Given the description of an element on the screen output the (x, y) to click on. 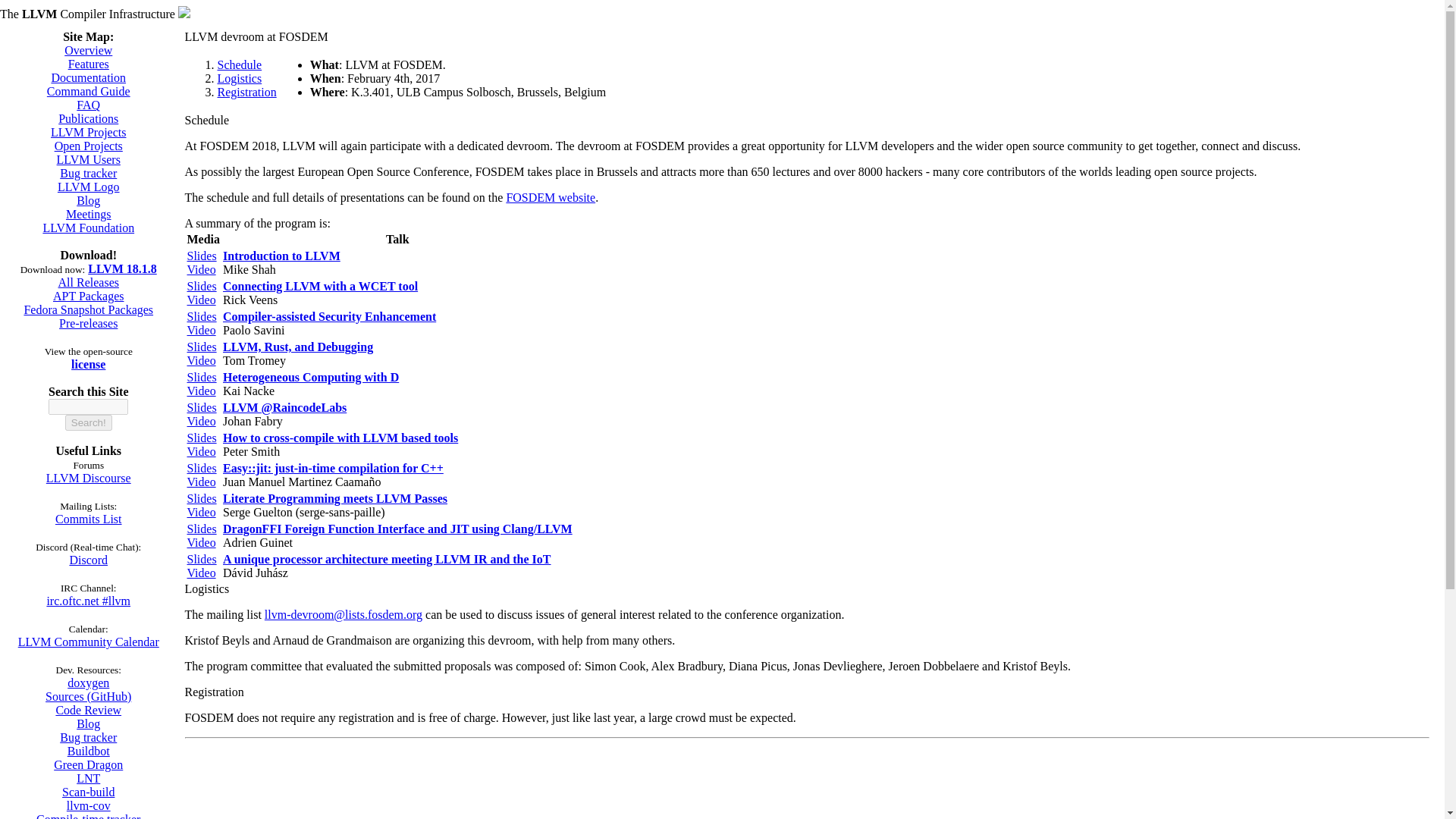
Bug tracker (87, 173)
doxygen (87, 682)
LLVM 18.1.8 (122, 268)
Scan-build (88, 791)
Blog (88, 723)
Commits List (88, 518)
license (87, 364)
LLVM Community Calendar (87, 641)
Meetings (88, 214)
Overview (88, 50)
